Given the description of an element on the screen output the (x, y) to click on. 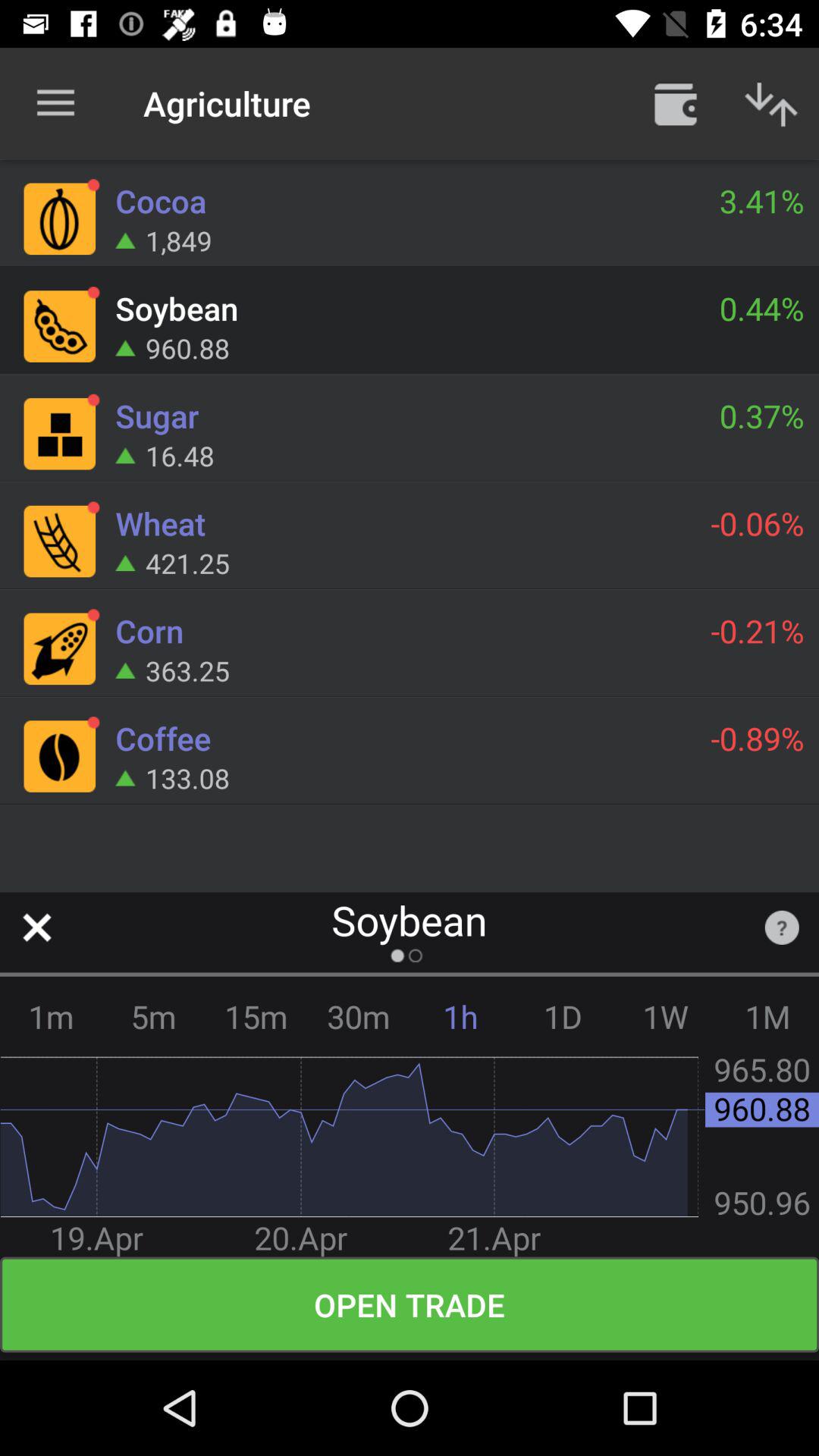
swipe until the 1w (665, 1016)
